Given the description of an element on the screen output the (x, y) to click on. 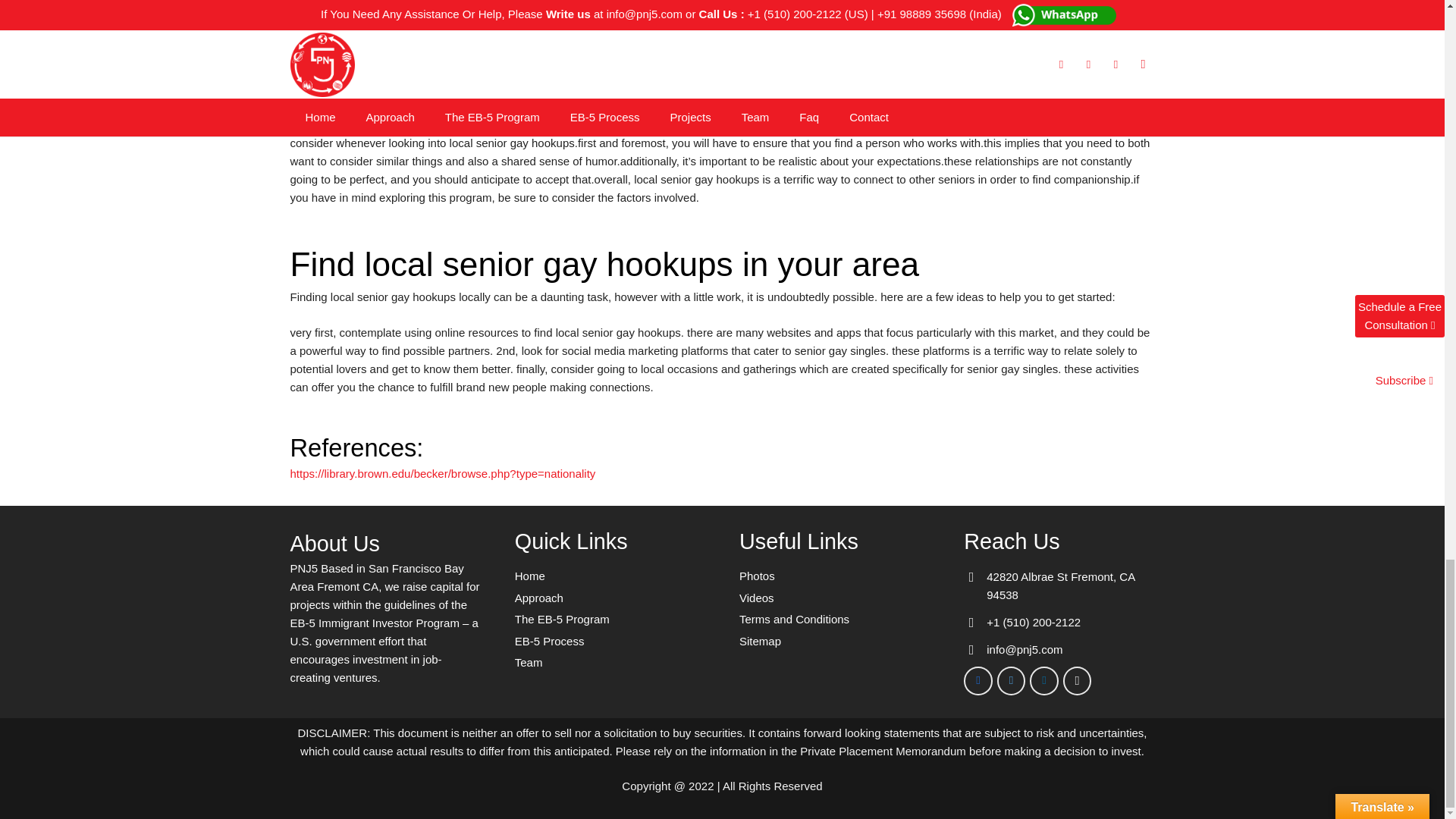
LinkedIn (1043, 680)
EB-5 Process (550, 640)
Home (529, 575)
Facebook (977, 680)
Terms and Conditions (793, 618)
Team (529, 662)
Approach (539, 597)
Photos (756, 575)
Twitter (1011, 680)
Sitemap (759, 640)
